Given the description of an element on the screen output the (x, y) to click on. 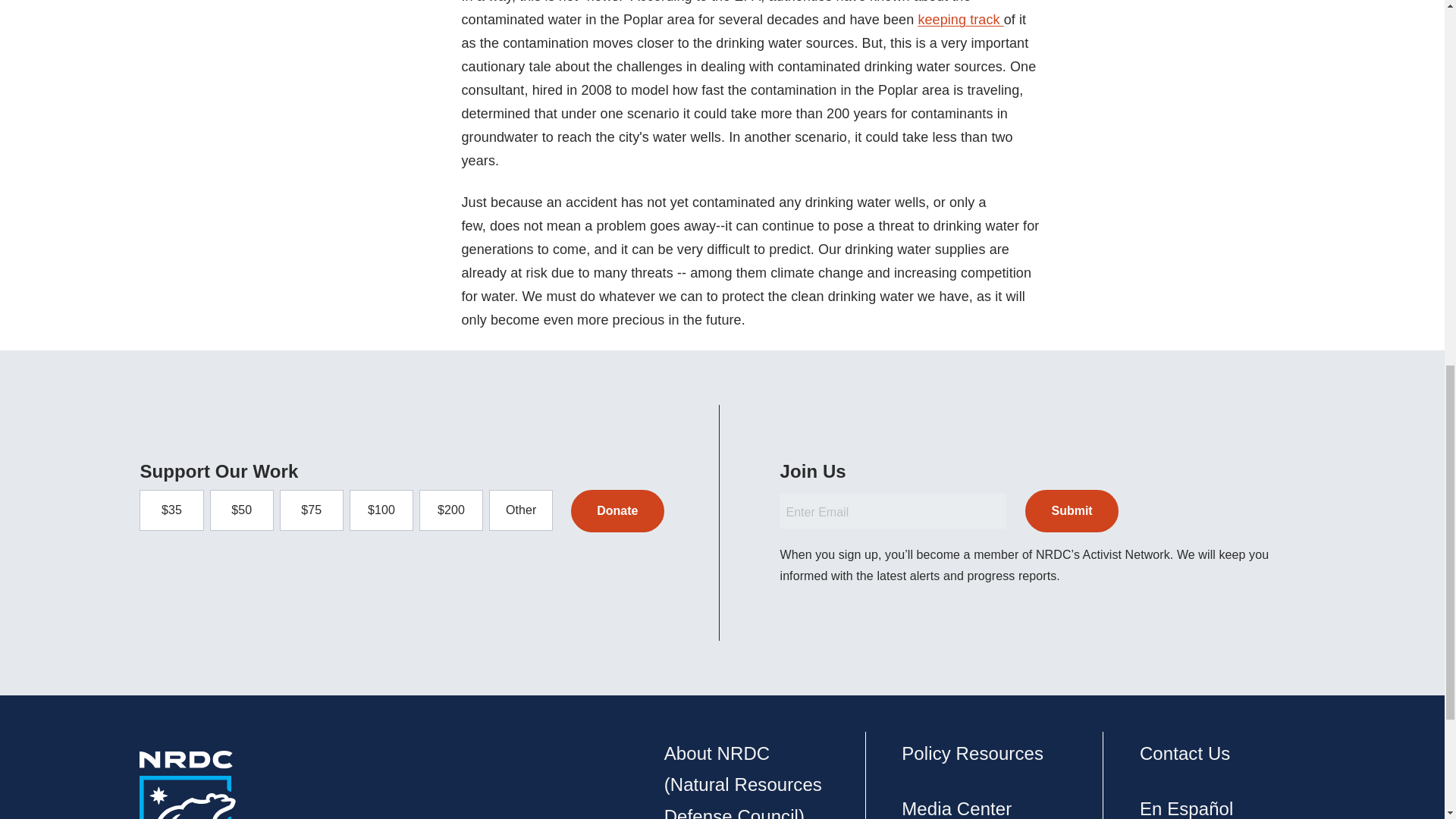
NRDC Logo (187, 785)
